Given the description of an element on the screen output the (x, y) to click on. 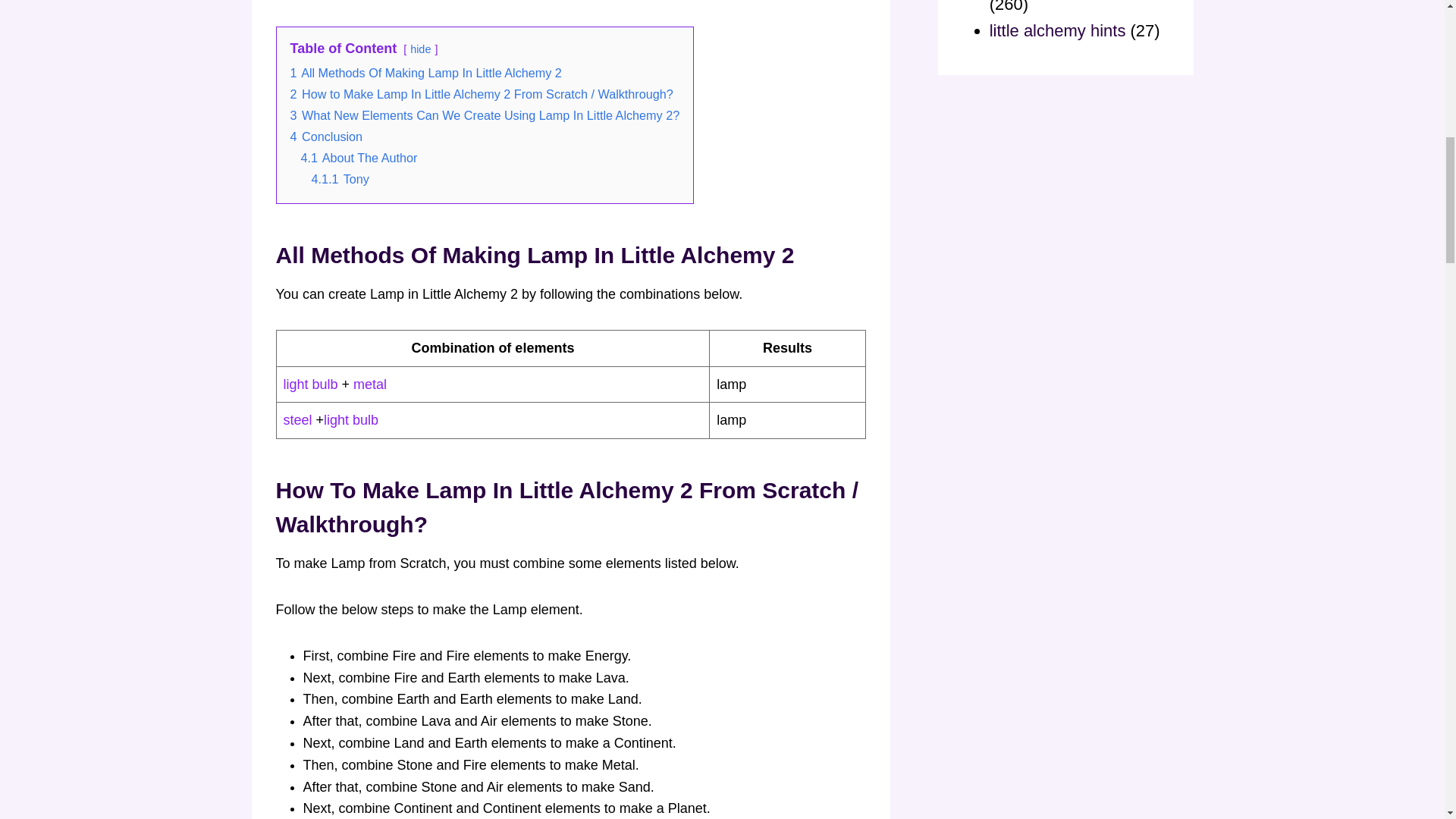
light bulb (312, 384)
4.1 About The Author (357, 157)
1 All Methods Of Making Lamp In Little Alchemy 2 (424, 72)
4 Conclusion (325, 136)
metal (370, 384)
steel (299, 419)
4.1.1 Tony (339, 178)
hide (420, 49)
light bulb (350, 419)
